Given the description of an element on the screen output the (x, y) to click on. 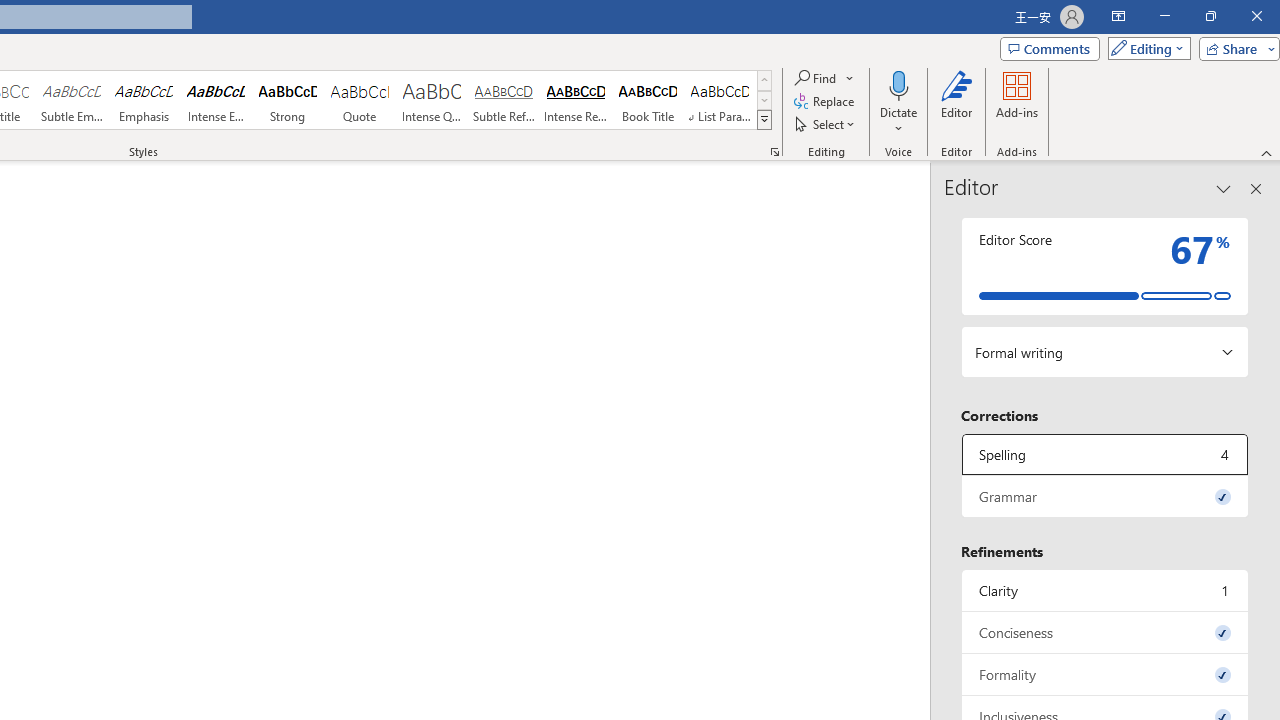
Strong (287, 100)
Spelling, 4 issues. Press space or enter to review items. (1105, 454)
Conciseness, 0 issues. Press space or enter to review items. (1105, 632)
Formality, 0 issues. Press space or enter to review items. (1105, 673)
Subtle Reference (504, 100)
Editor Score 67% (1105, 266)
